Given the description of an element on the screen output the (x, y) to click on. 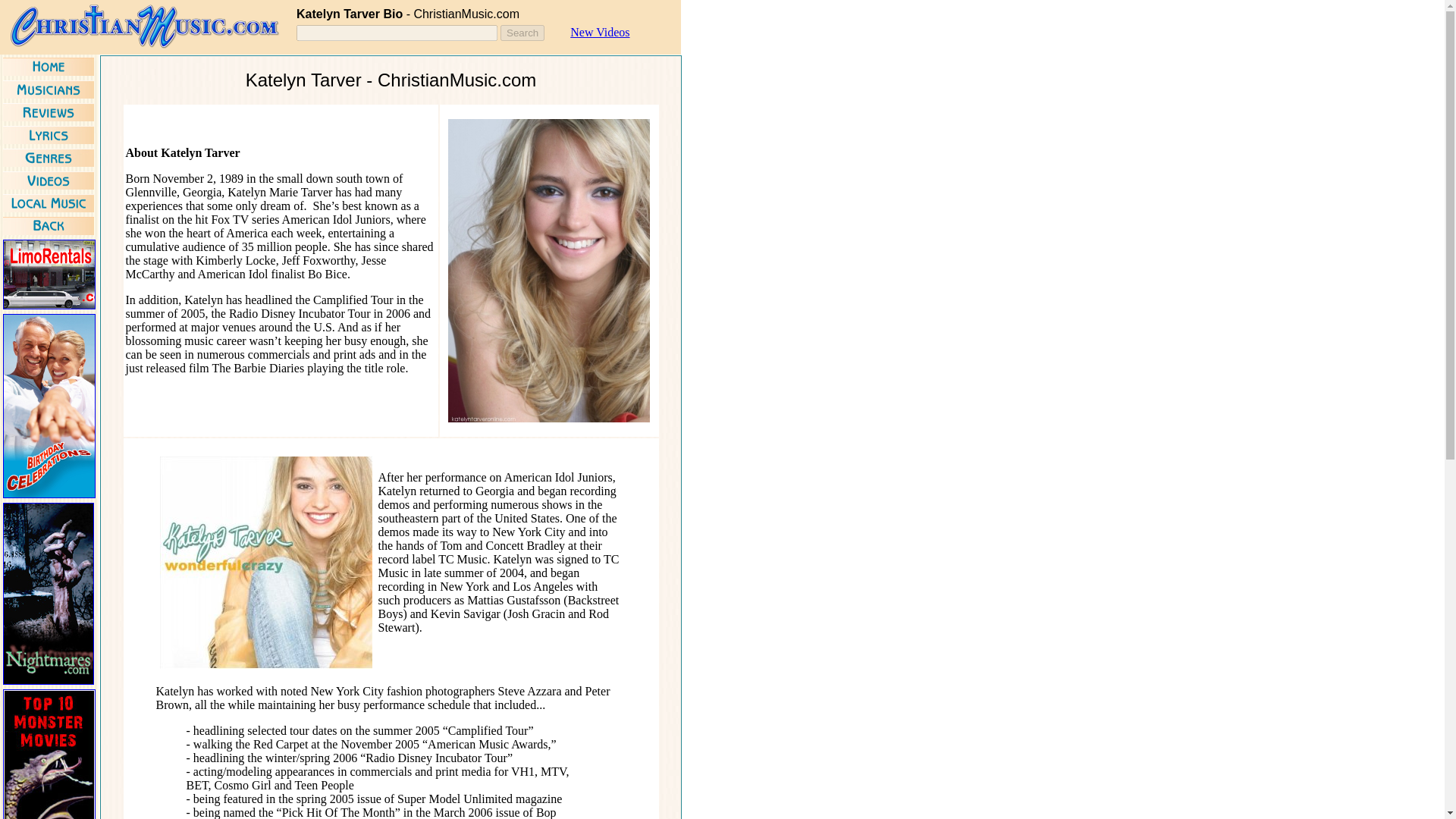
New Videos (599, 31)
Search (522, 32)
Search (522, 32)
